Given the description of an element on the screen output the (x, y) to click on. 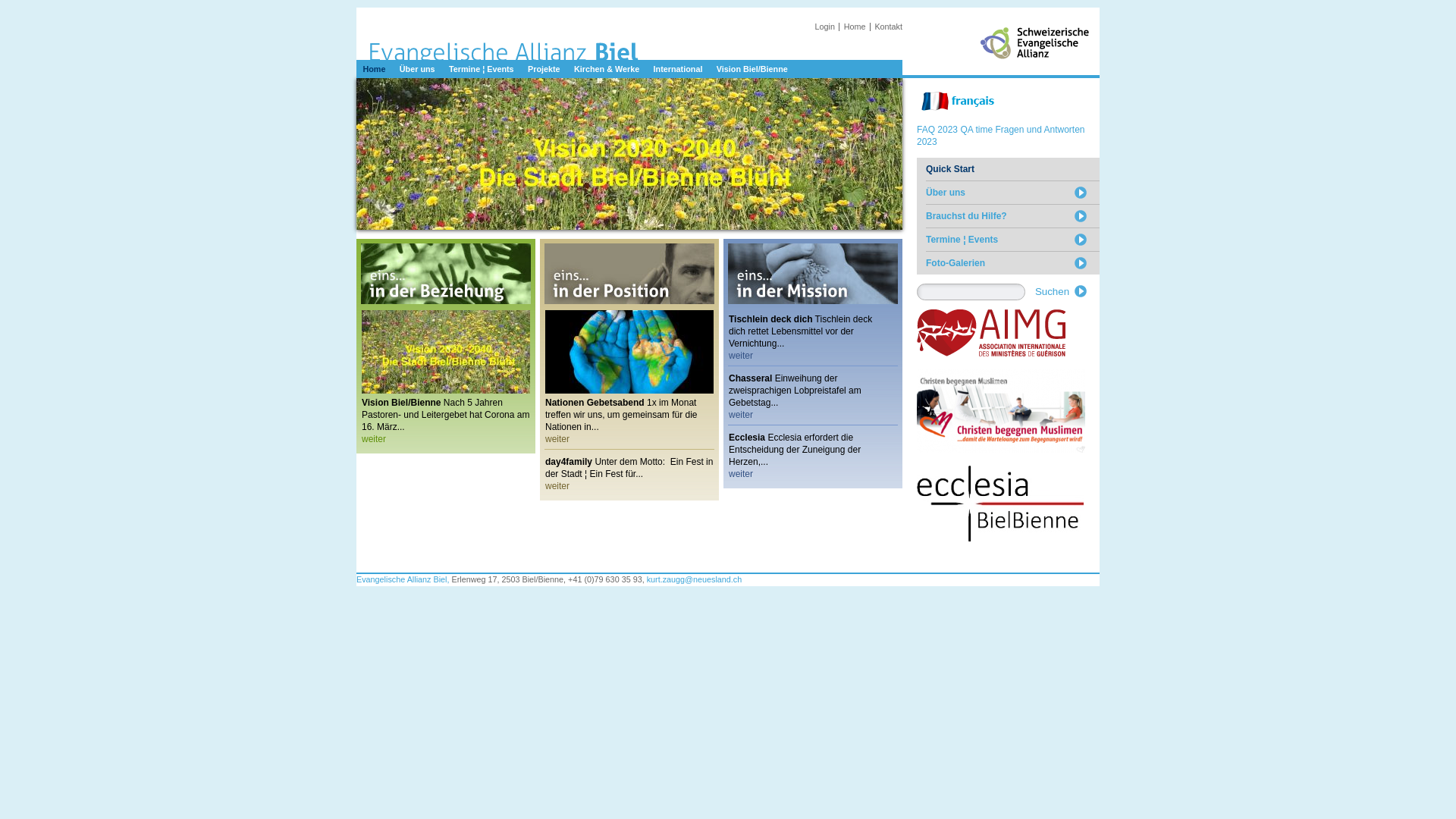
Schweizerische Evangelische Allianz (SEA) Element type: hover (1039, 61)
Chasseral Element type: text (751, 378)
Projekte Element type: text (543, 68)
Nationen Gebetsabend Element type: text (594, 402)
Kirchen & Werke Element type: text (606, 68)
Skip to Navigation Element type: text (1070, 13)
Startseite Element type: hover (629, 47)
weiter Element type: text (812, 415)
Brauchst du Hilfe? Element type: text (1012, 215)
weiter Element type: text (445, 439)
Suchen Element type: text (1065, 290)
Login Element type: text (824, 26)
Fragen und Antworten 2023 Element type: text (1000, 135)
weiter Element type: text (629, 439)
Ecclesia Element type: text (746, 437)
Tischlein deck dich Element type: text (770, 318)
FAQ 2023 Element type: text (936, 129)
kurt.zaugg@neuesland.ch Element type: text (694, 578)
Vision Biel/Bienne Element type: text (751, 68)
Foto-Galerien Element type: text (1012, 262)
Home Element type: text (373, 68)
weiter Element type: text (629, 486)
Home Element type: text (855, 26)
weiter Element type: text (812, 474)
QA time Element type: text (976, 129)
Kontakt Element type: text (888, 26)
day4family Element type: text (568, 461)
weiter Element type: text (812, 356)
Die Begriffe eingeben nach denen gesucht werden soll. Element type: hover (970, 291)
Vision Biel/Bienne Element type: text (400, 402)
International Element type: text (677, 68)
Evangelische Allianz Biel, Element type: text (402, 578)
